Given the description of an element on the screen output the (x, y) to click on. 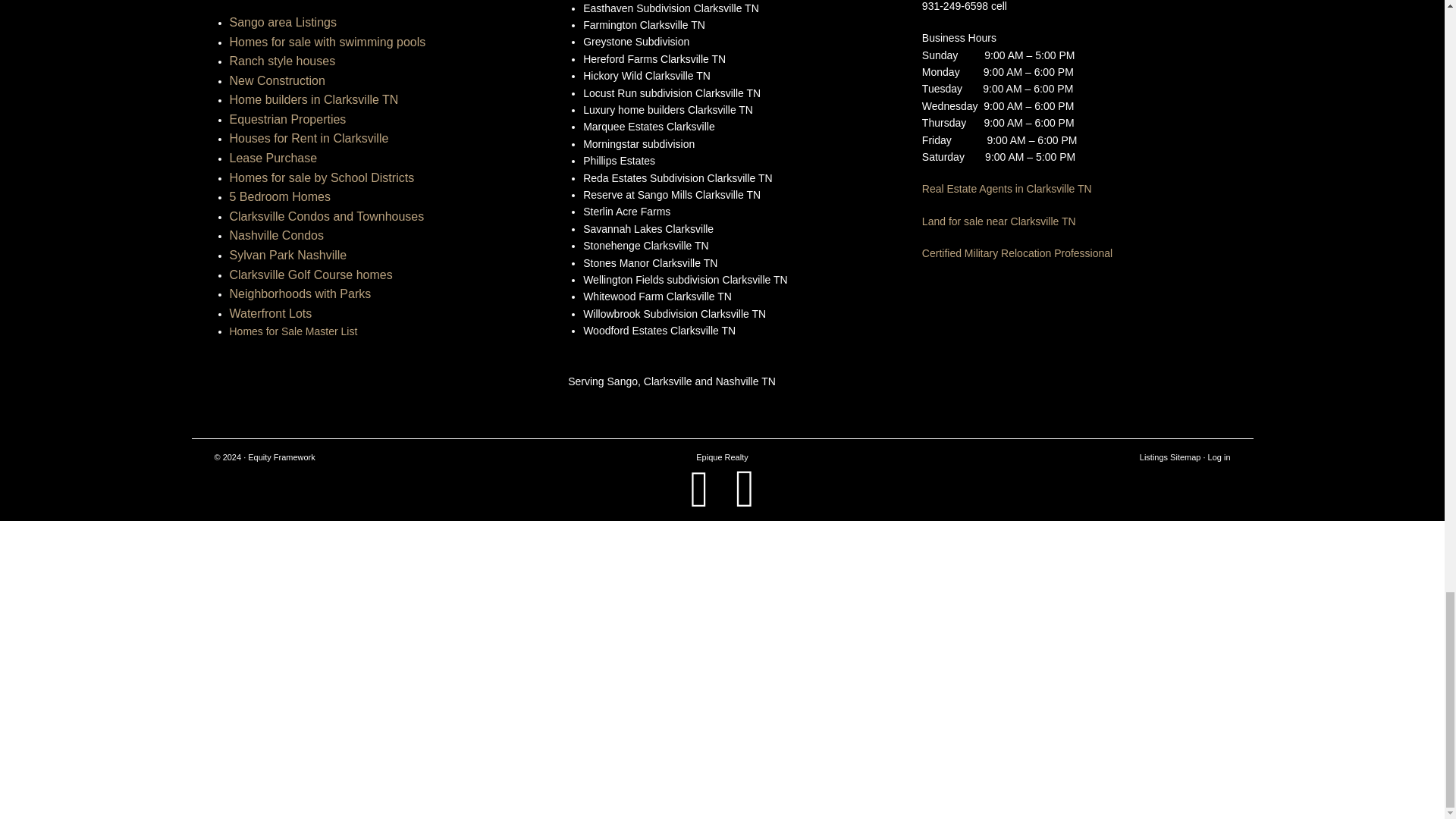
Woodberry Clarksville TN (349, 712)
WordPress Themes for Real Estate Agents (281, 456)
